Given the description of an element on the screen output the (x, y) to click on. 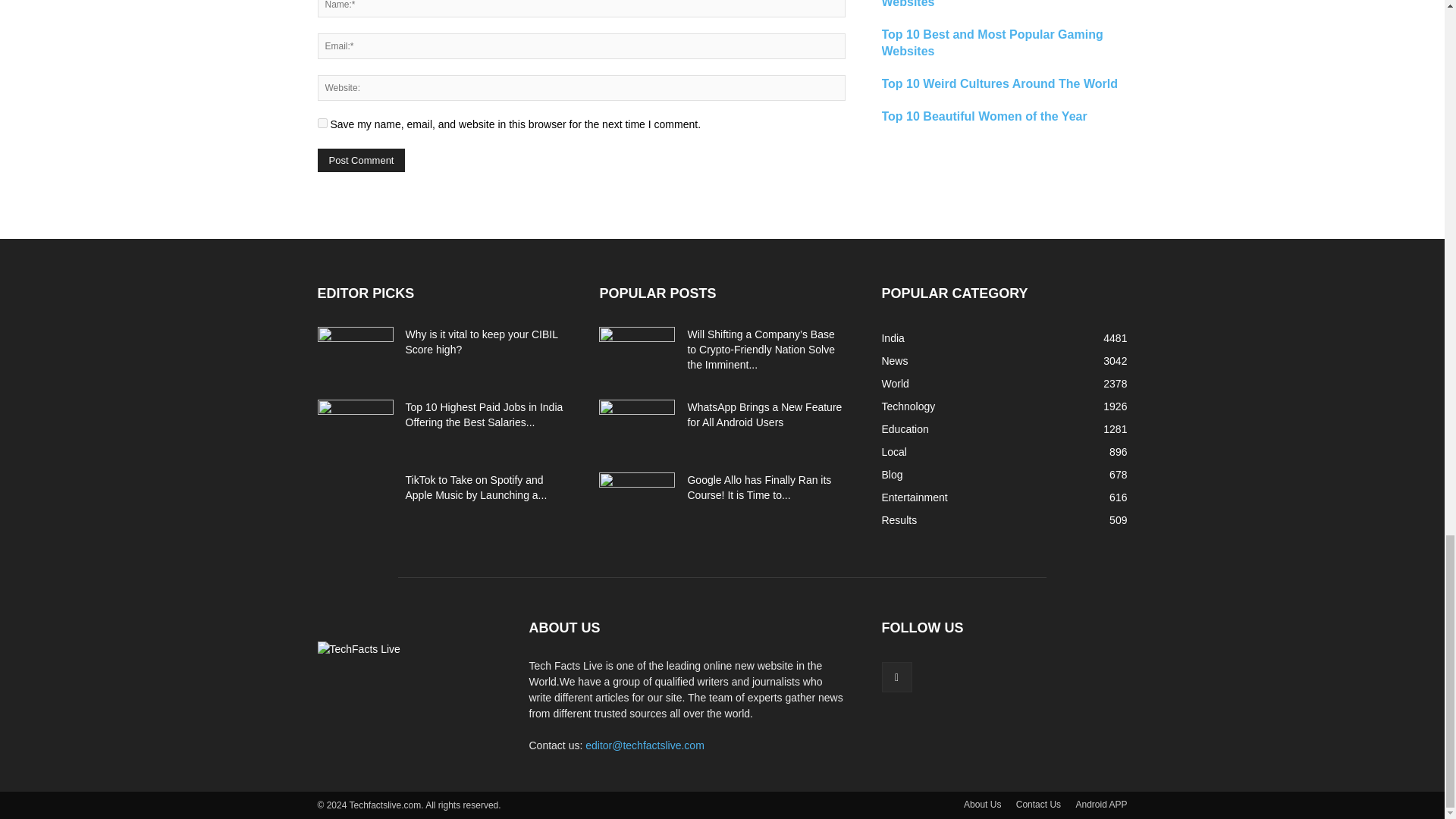
Post Comment (360, 159)
WhatsApp Brings a New Feature for All Android Users (636, 425)
Why is it vital to keep your CIBIL Score high? (355, 353)
yes (321, 122)
Why is it vital to keep your CIBIL Score high? (480, 341)
